Given the description of an element on the screen output the (x, y) to click on. 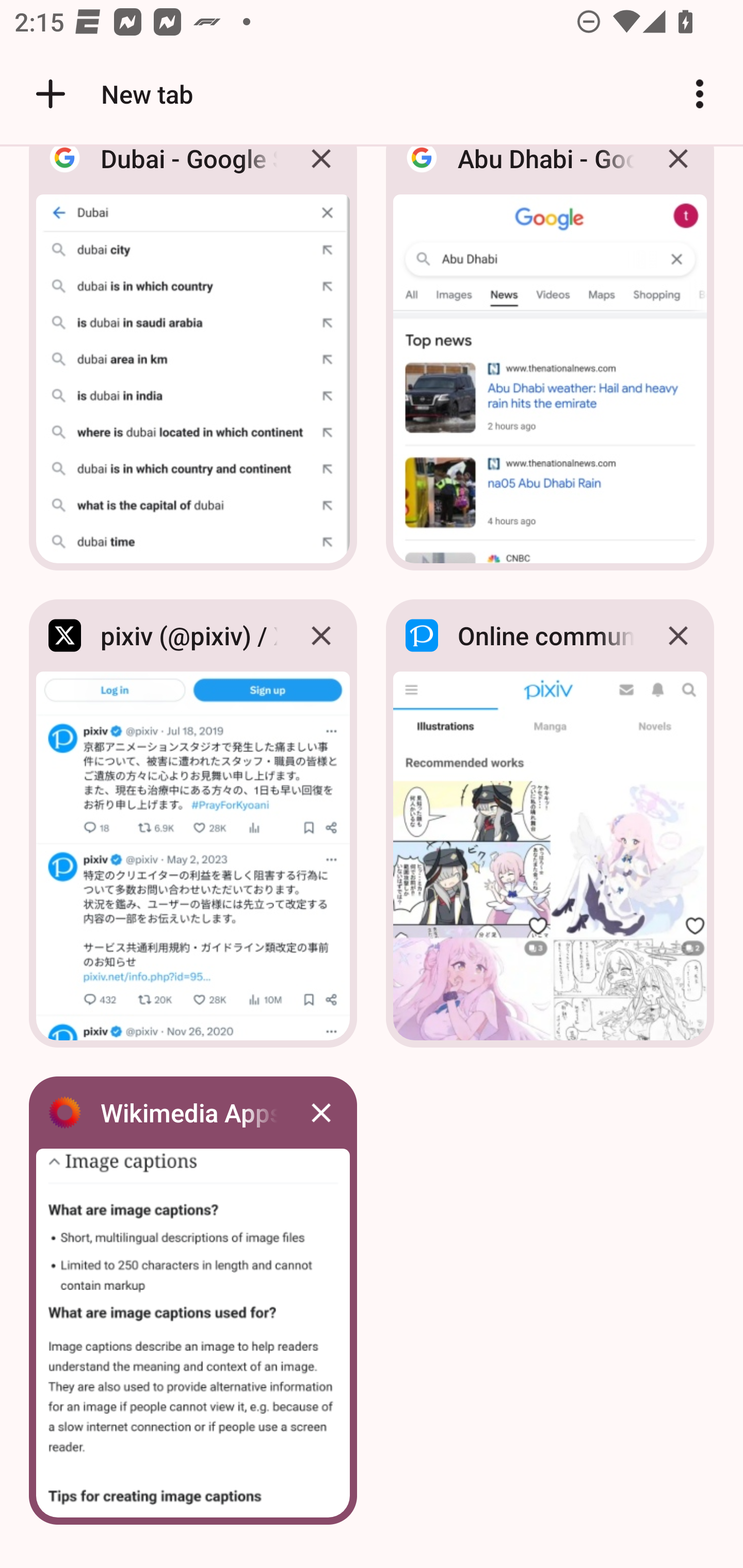
New tab (111, 93)
Customize and control Google Chrome (699, 93)
Close Dubai - Google Search tab (320, 173)
Close Abu Dhabi - Google Search tab (677, 173)
Close pixiv (@pixiv) / X tab (320, 635)
Close Online community for artists [pixiv] tab (677, 635)
